Given the description of an element on the screen output the (x, y) to click on. 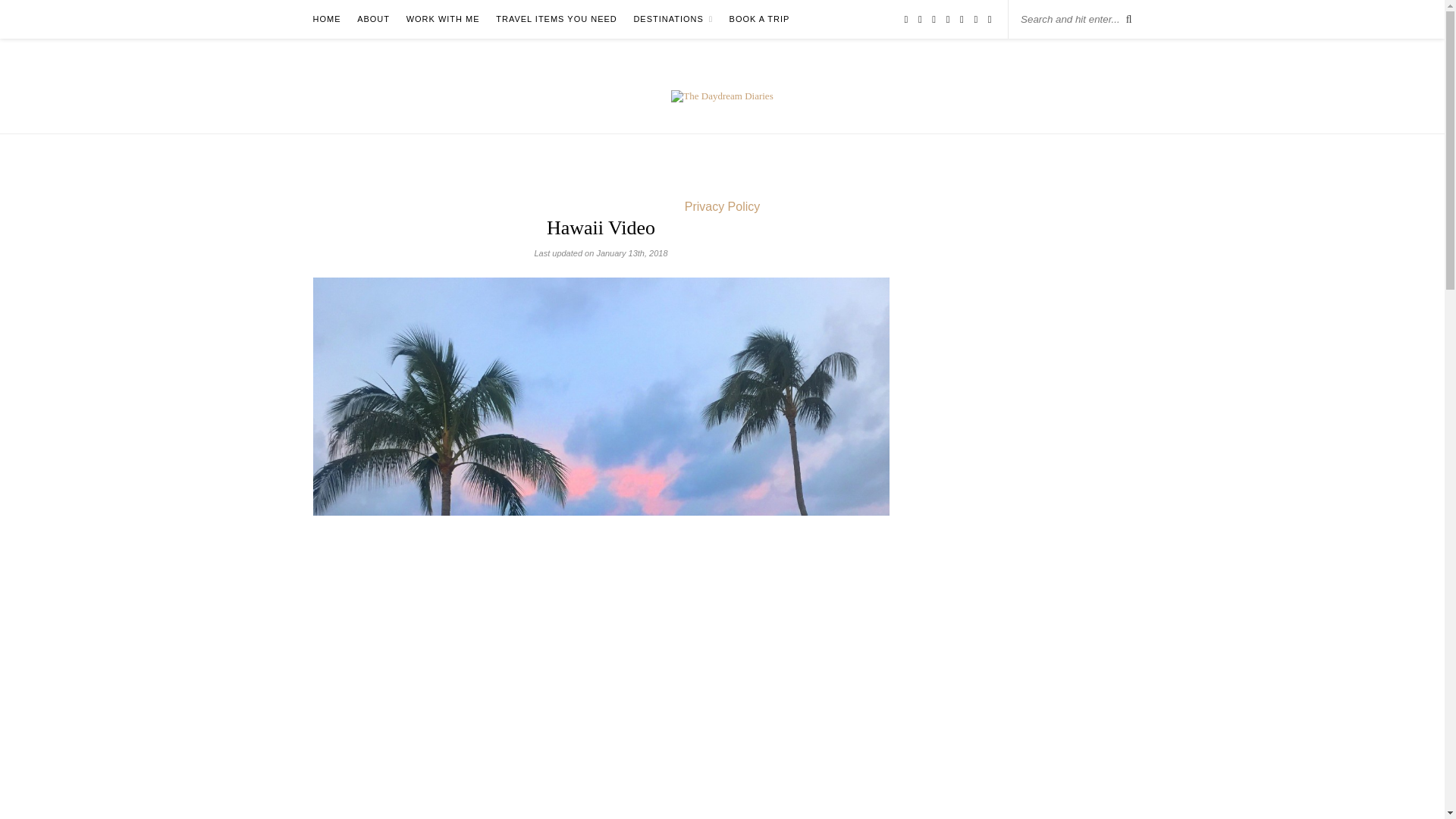
DESTINATIONS (673, 19)
TRAVEL ITEMS YOU NEED (556, 19)
WORK WITH ME (443, 19)
